Given the description of an element on the screen output the (x, y) to click on. 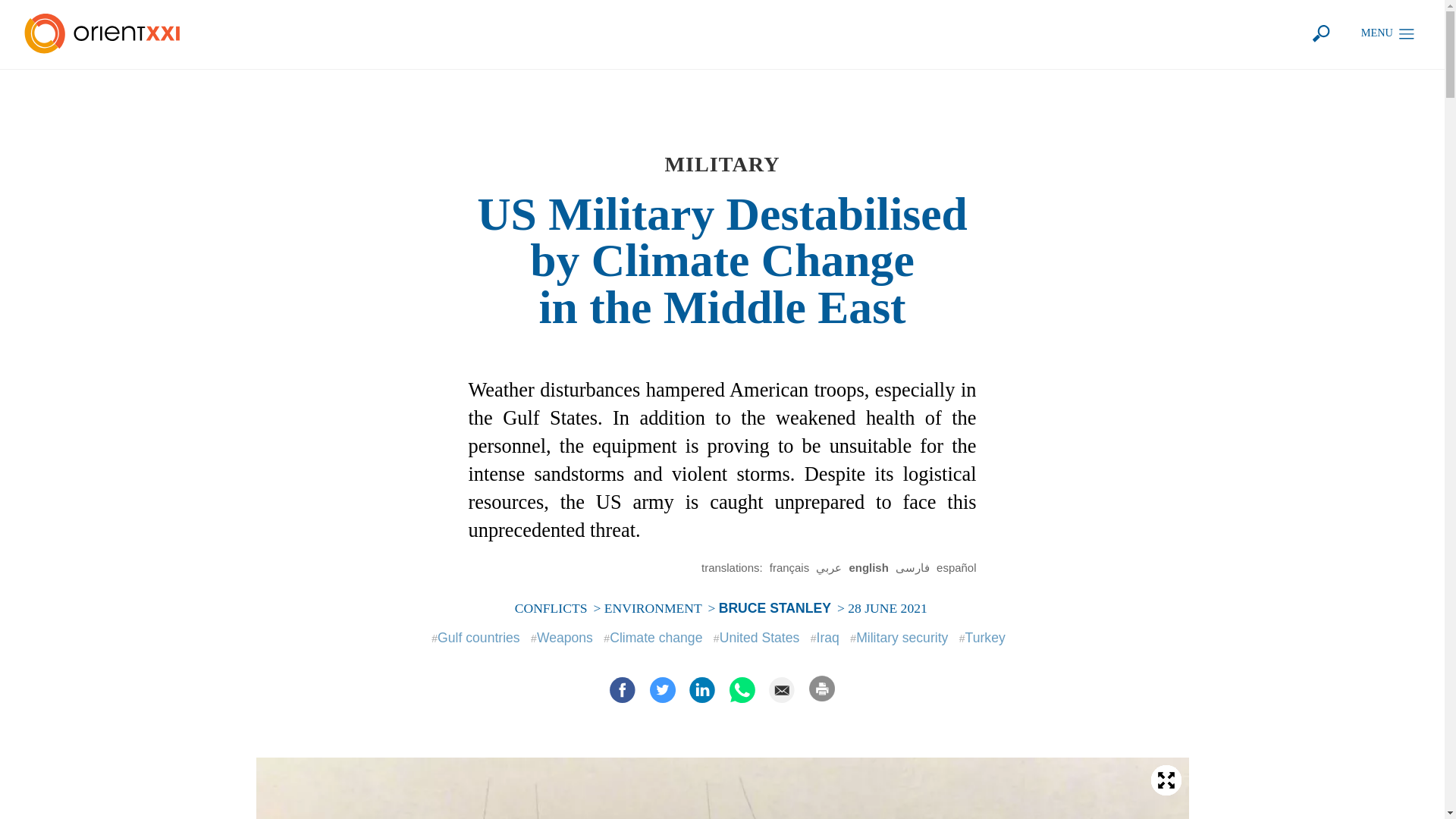
Facebook (622, 689)
Whatsapp (742, 689)
LinkedIn (701, 689)
Mail (781, 689)
Imprimer (821, 688)
Twitter (662, 689)
